Given the description of an element on the screen output the (x, y) to click on. 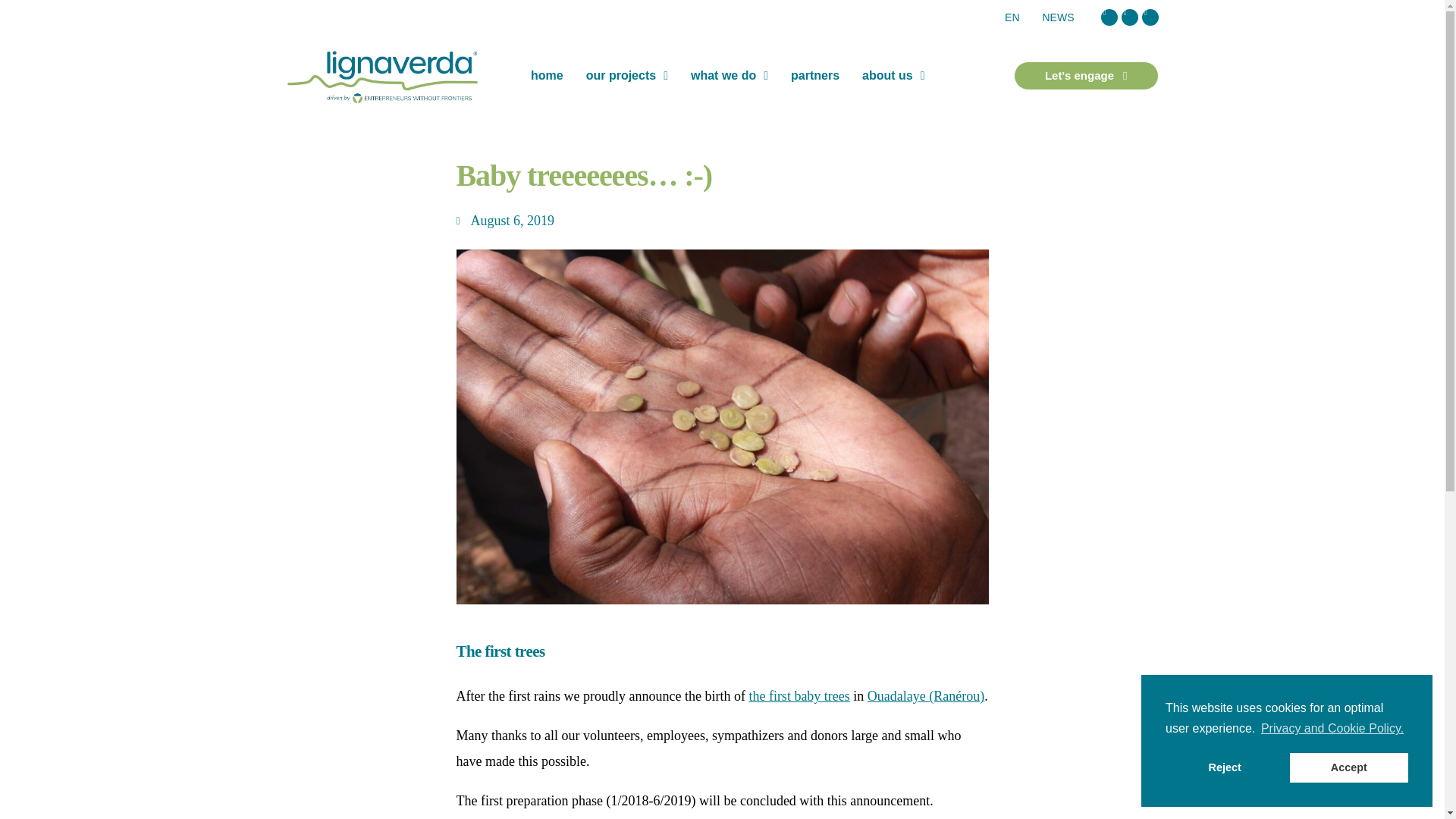
EN (1011, 17)
EN (1011, 17)
what we do (729, 75)
home (547, 75)
our projects (627, 75)
NEWS (1058, 17)
